Given the description of an element on the screen output the (x, y) to click on. 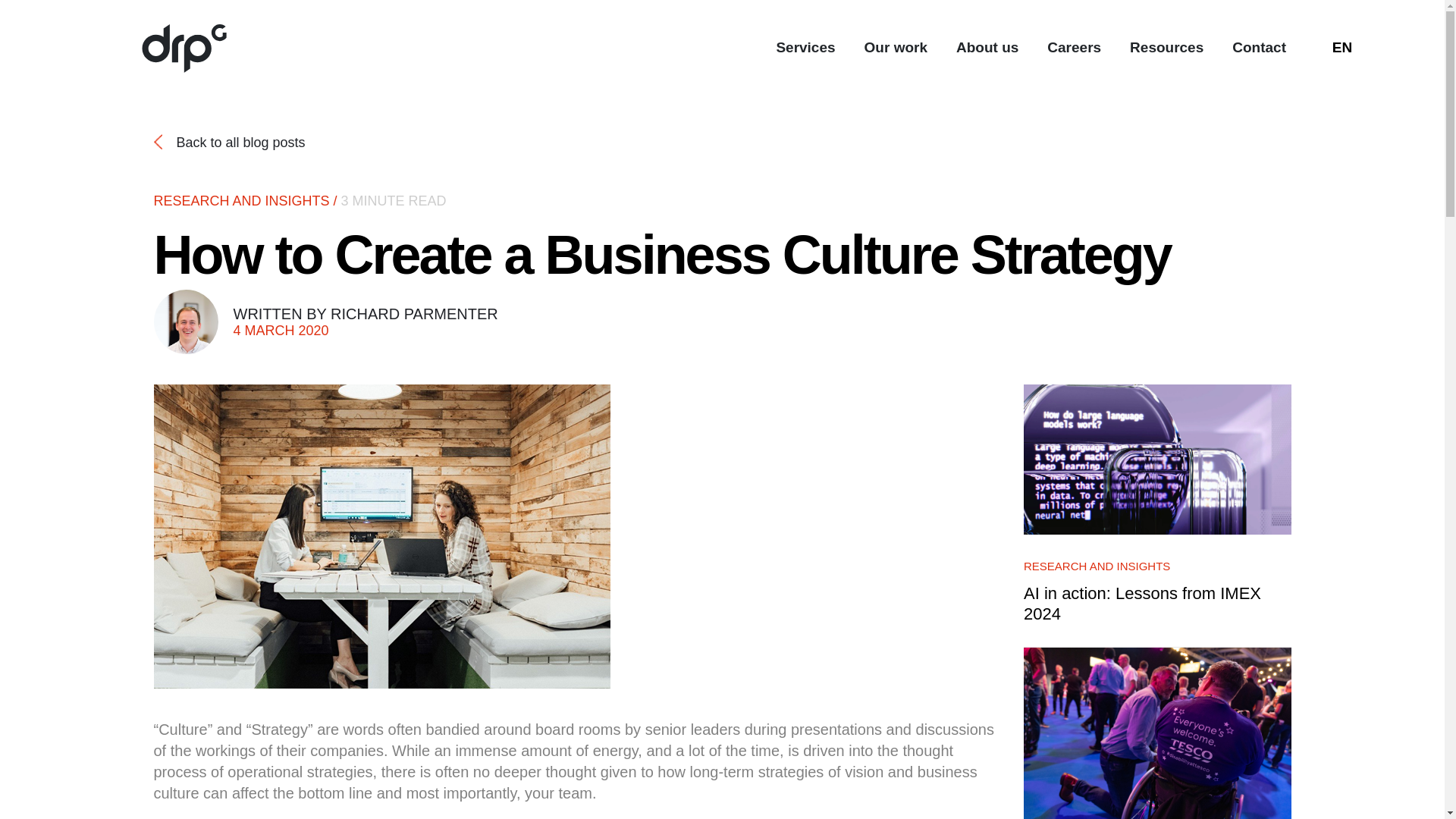
About us (987, 48)
Services (804, 48)
Resources (1166, 48)
Our work (896, 48)
